Given the description of an element on the screen output the (x, y) to click on. 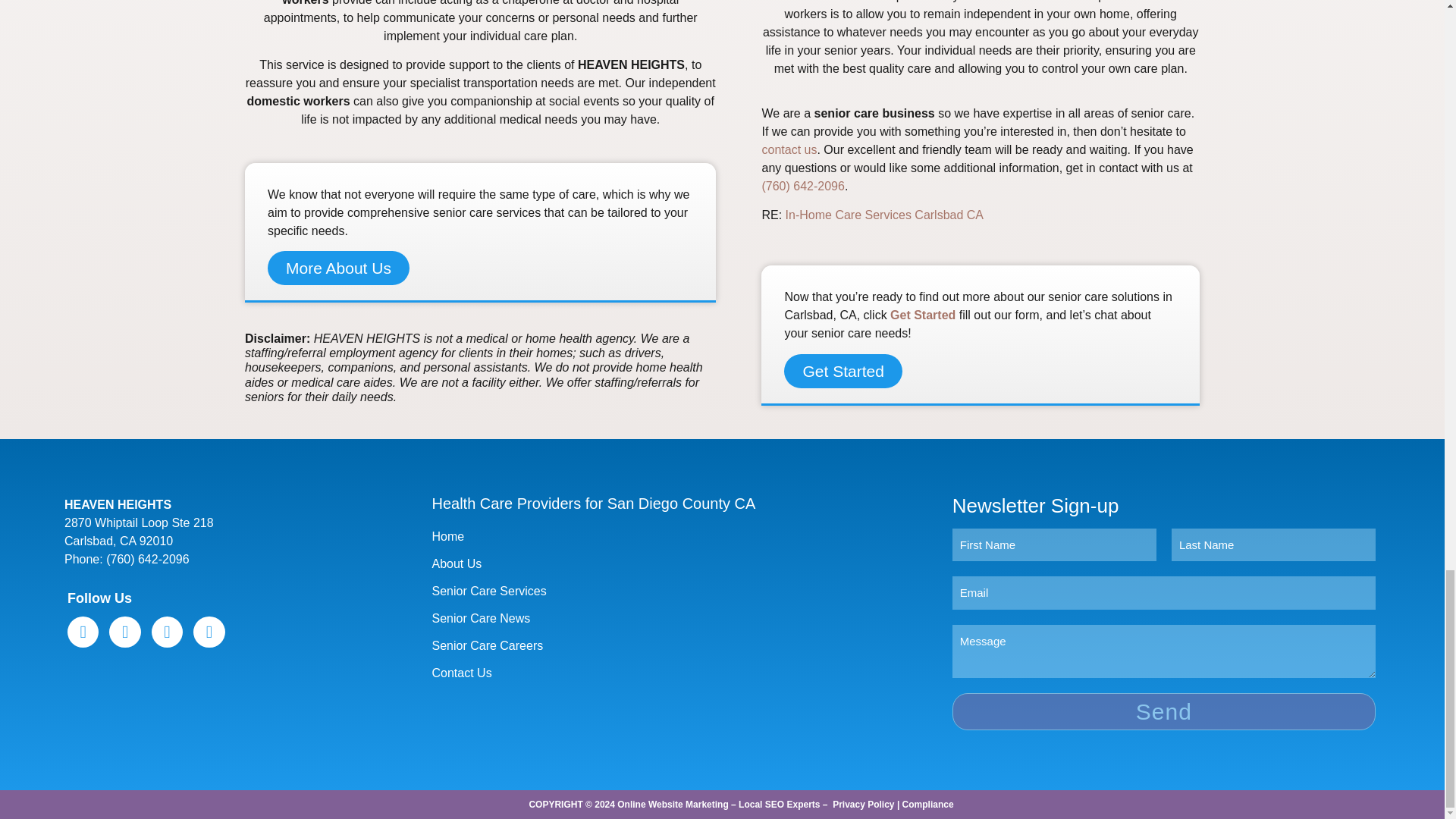
In Home care Services Carlsbad CA (885, 214)
Get Started (842, 370)
Compliance (927, 804)
In-Home Care Services Carlsbad CA (885, 214)
More About Us (338, 267)
contact us (788, 149)
Get Started (922, 314)
Online Website Marketing - Local SEO Experts (718, 804)
Privacy Policy (862, 804)
